Given the description of an element on the screen output the (x, y) to click on. 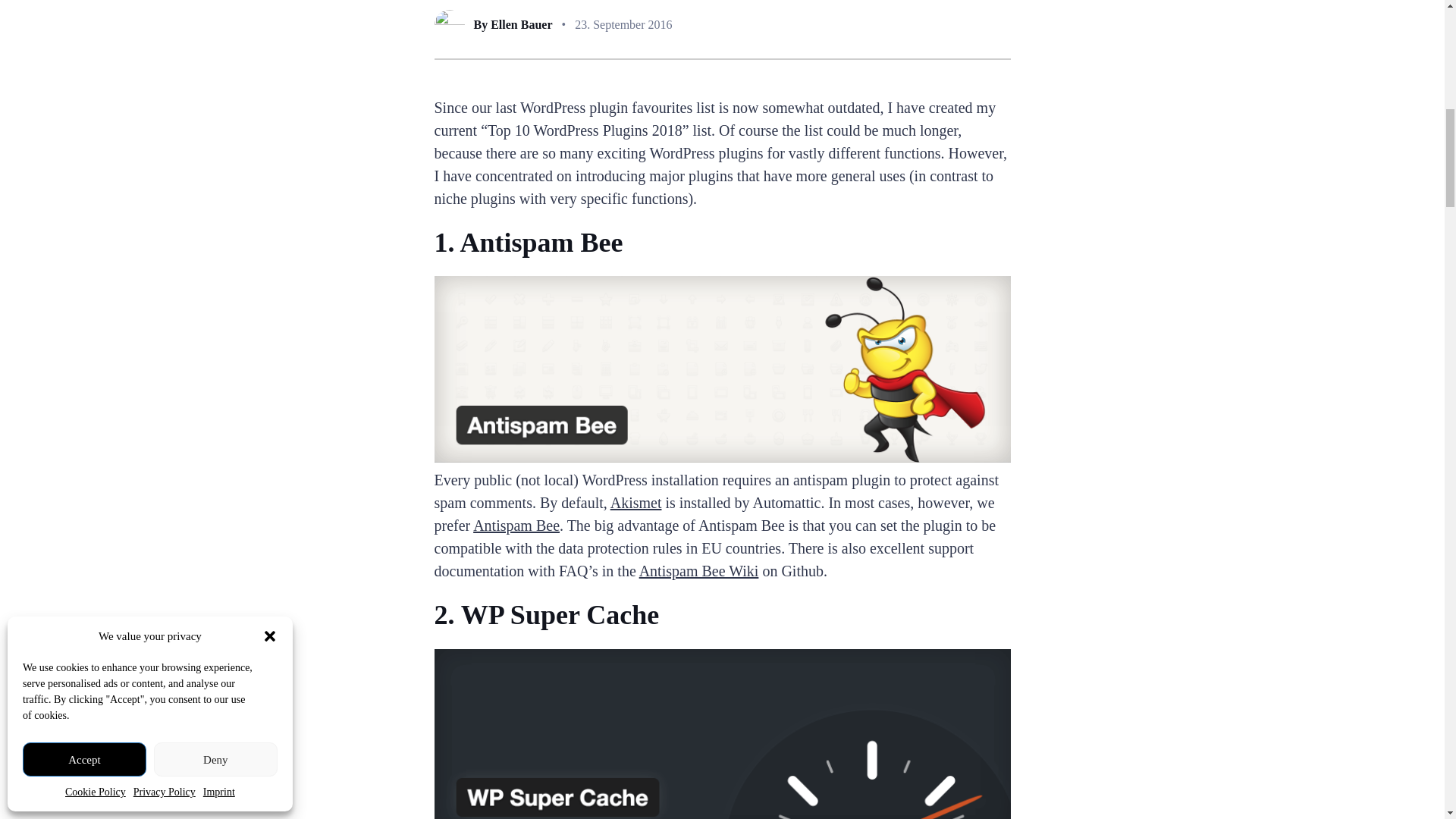
Antispam Bee Wiki (698, 570)
Antispam Bee (516, 524)
Akismet (636, 502)
